Given the description of an element on the screen output the (x, y) to click on. 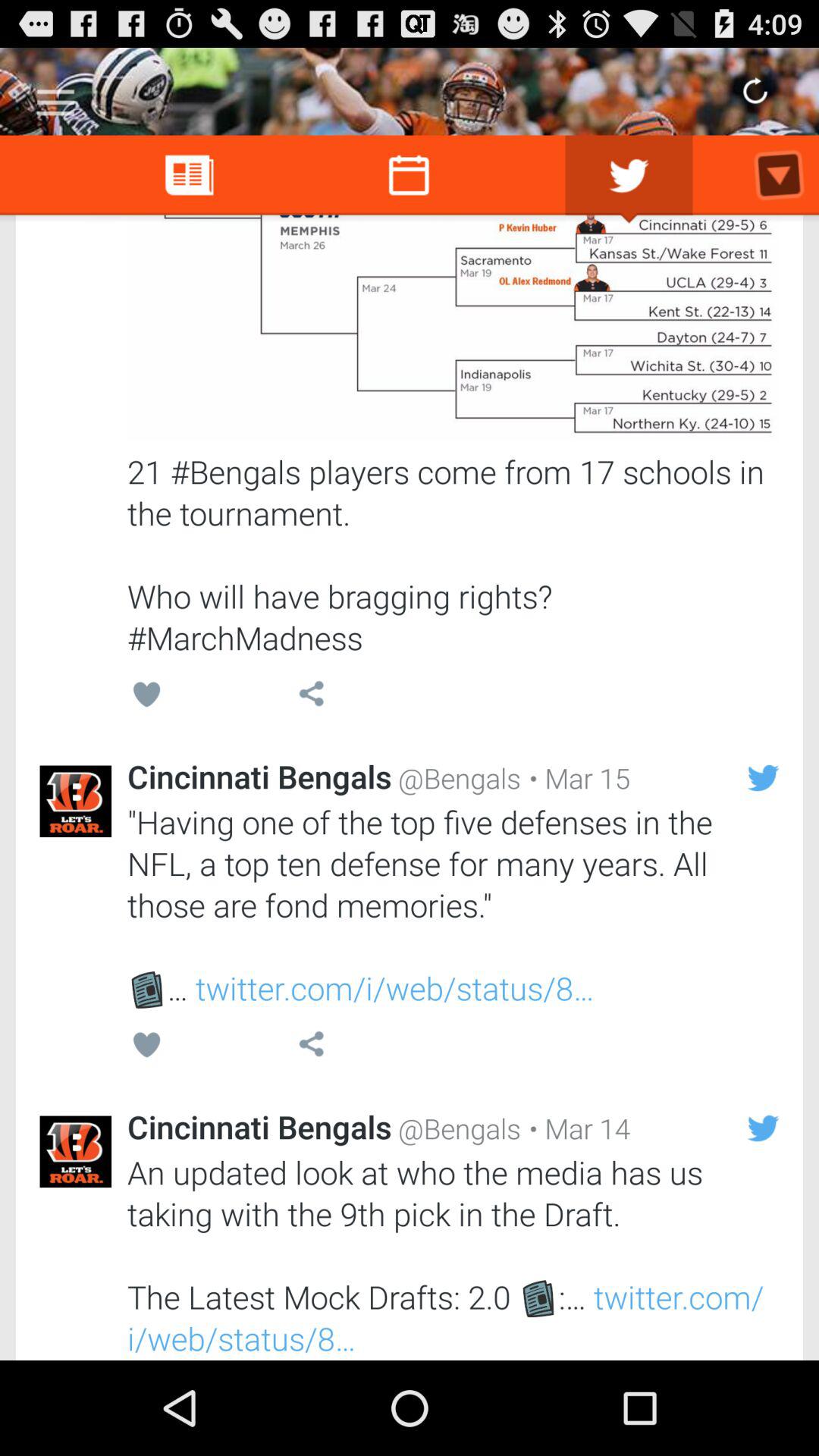
open drop-down menu (55, 97)
